Given the description of an element on the screen output the (x, y) to click on. 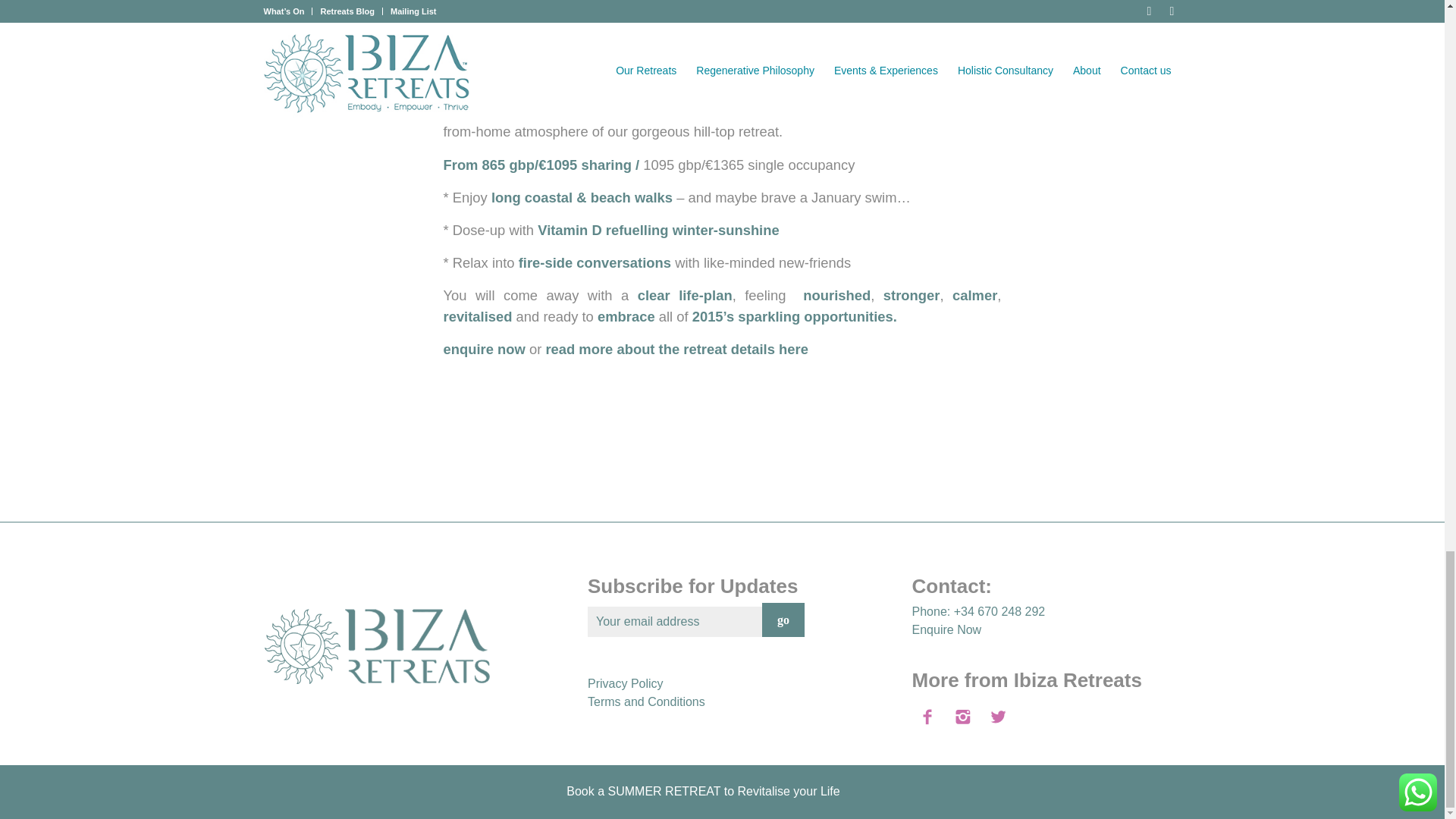
go (783, 619)
Instagram (1169, 796)
Facebook (1146, 796)
Privacy Policy (625, 683)
Enquire Now (946, 629)
go (783, 619)
Terms and Conditions (646, 701)
read more about the retreat details here (674, 349)
